Given the description of an element on the screen output the (x, y) to click on. 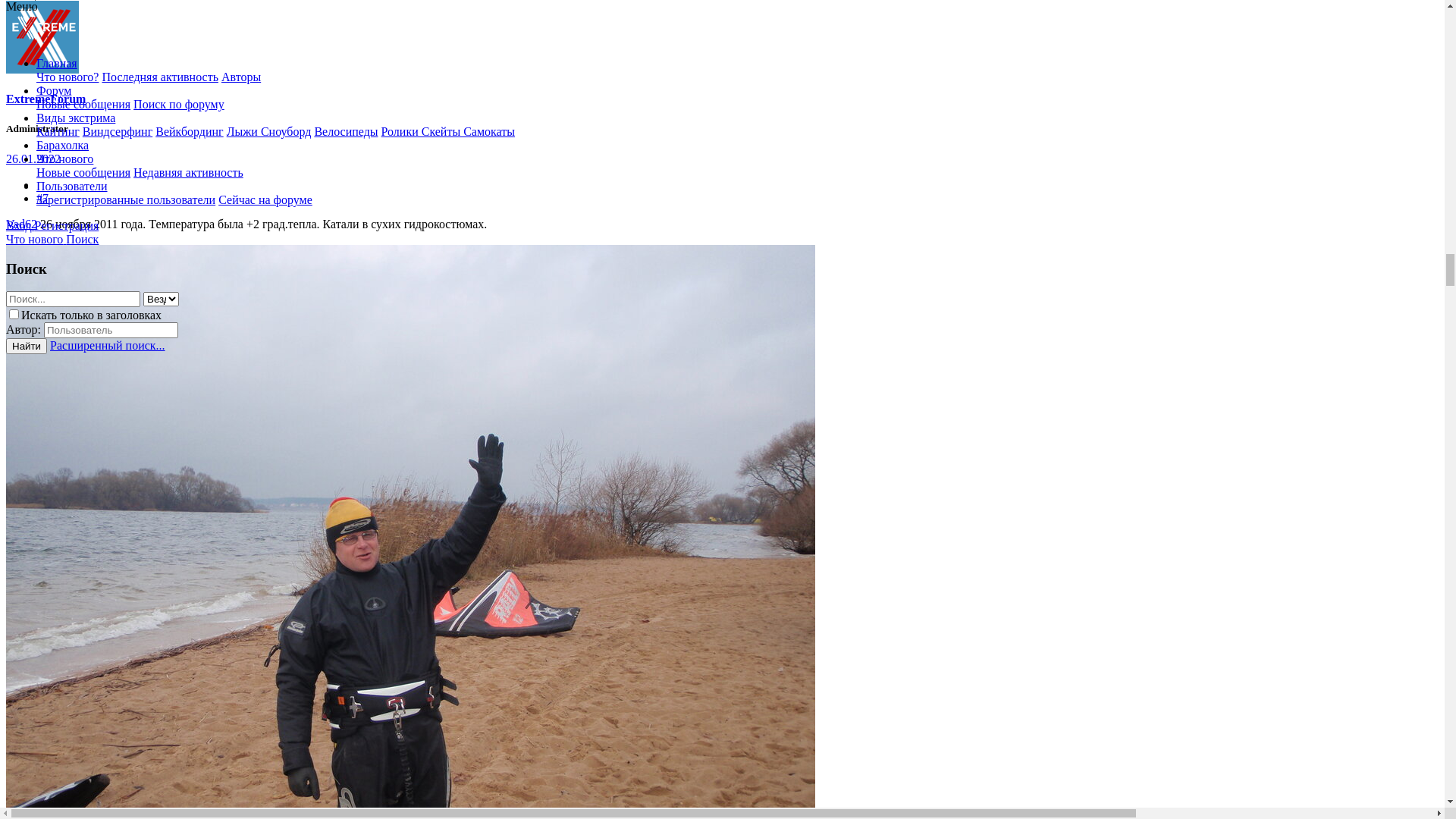
07.03.2020 Element type: text (127, 652)
infopost Element type: text (26, 770)
infopost Element type: text (119, 638)
